Given the description of an element on the screen output the (x, y) to click on. 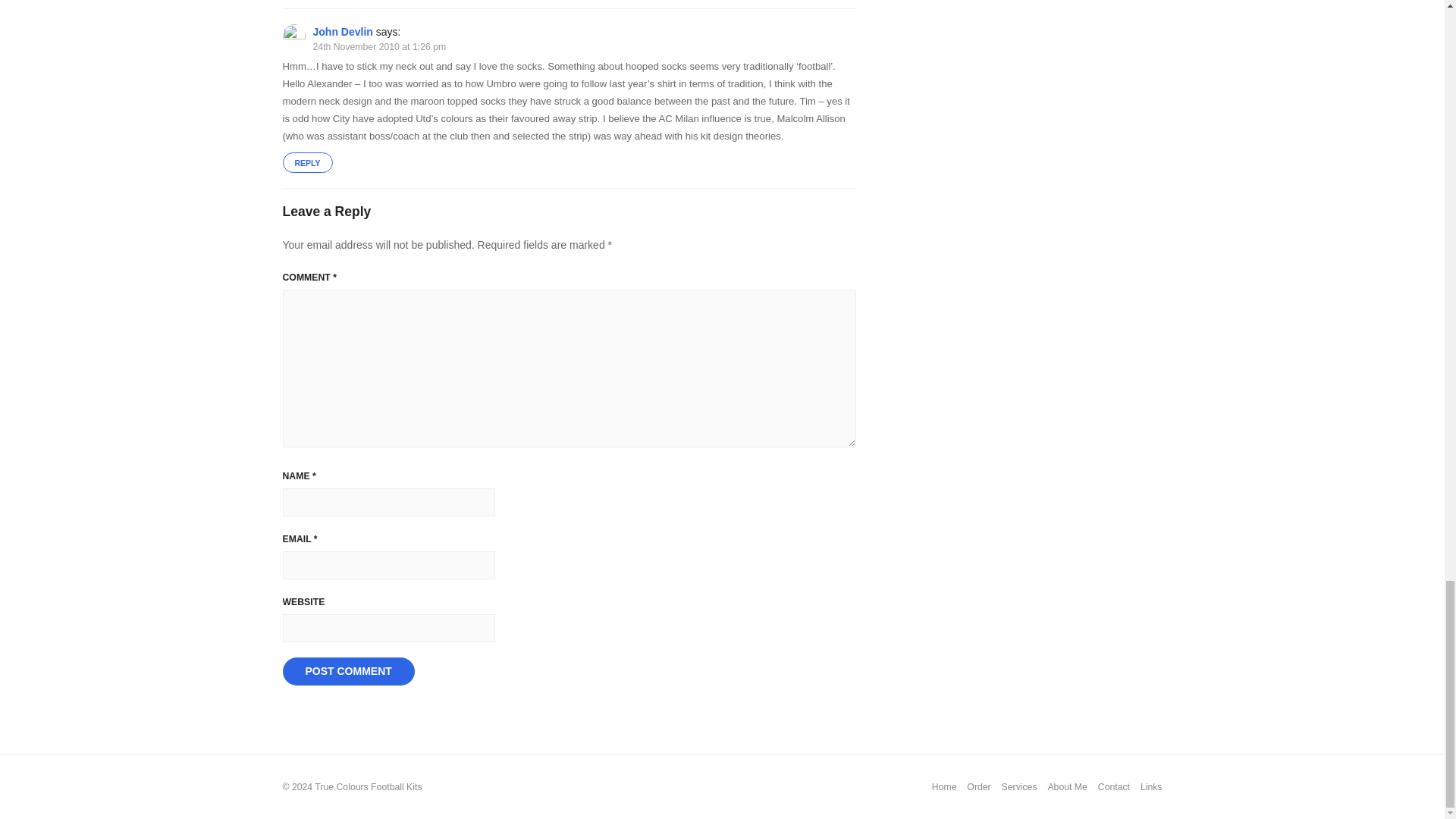
Post Comment (347, 671)
